Given the description of an element on the screen output the (x, y) to click on. 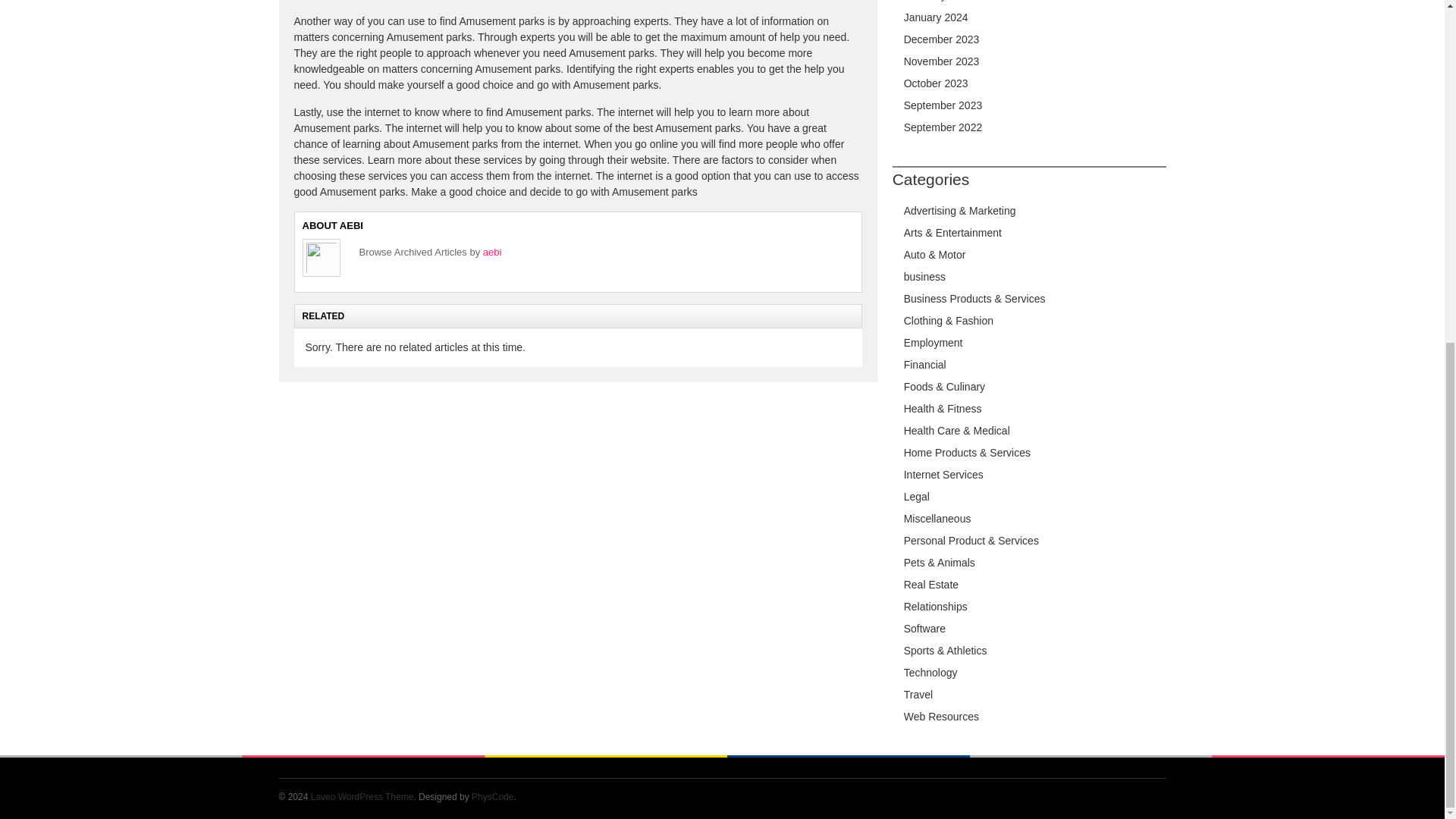
December 2023 (941, 39)
aebi (492, 251)
business (924, 276)
November 2023 (941, 61)
Employment (933, 342)
January 2024 (936, 17)
Legal (917, 496)
September 2023 (943, 105)
February 2024 (938, 0)
October 2023 (936, 82)
September 2022 (943, 127)
more (766, 111)
Financial (925, 364)
Internet Services (944, 474)
